Given the description of an element on the screen output the (x, y) to click on. 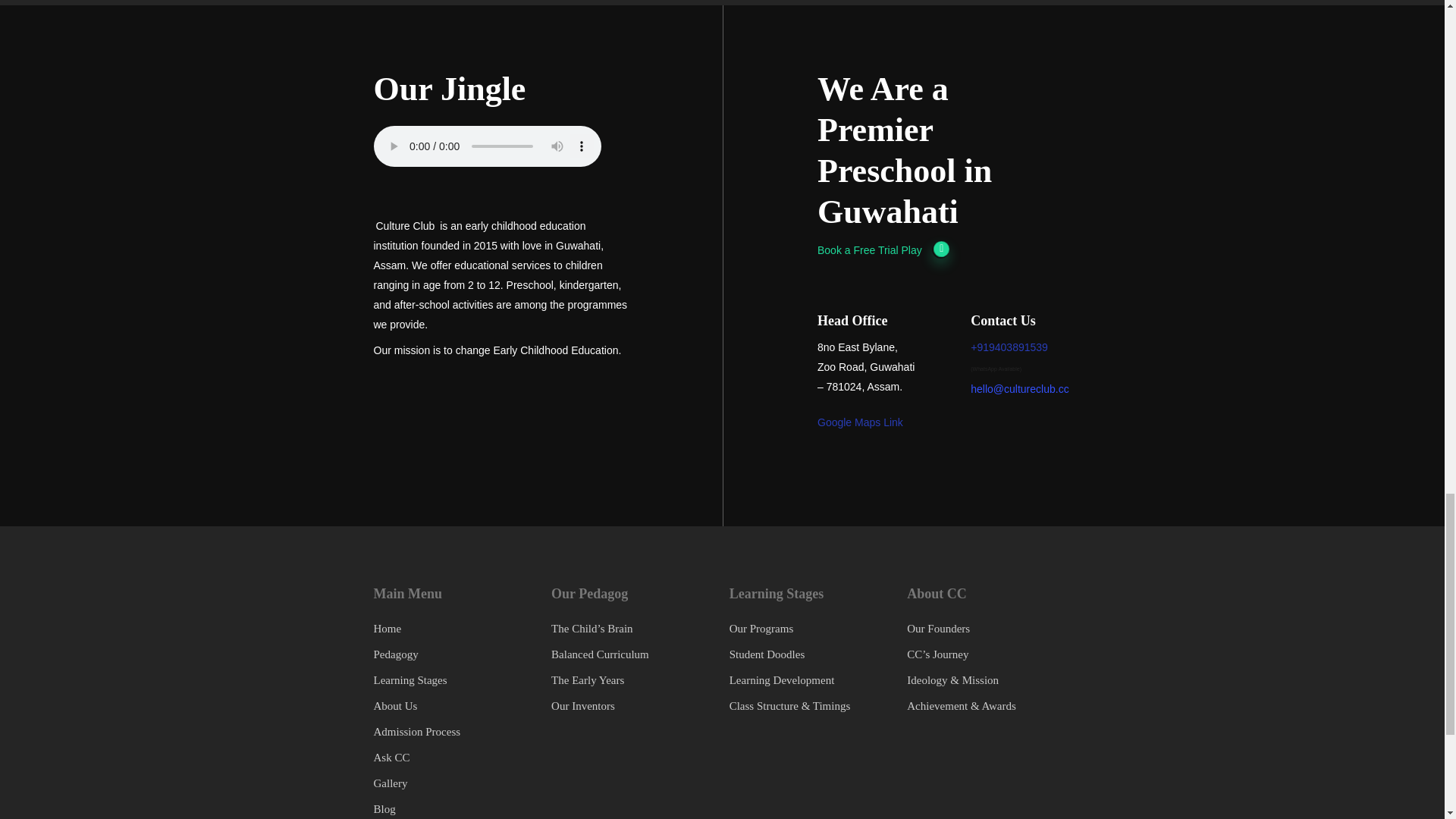
Our Programs (761, 628)
Pedagogy (394, 654)
Gallery (389, 783)
Learning Stages (409, 680)
Balanced Curriculum (600, 654)
Google Maps Link (859, 422)
About Us (394, 705)
The Early Years (587, 680)
Book a Free Trial Play (883, 250)
Student Doodles (767, 654)
Our Founders (938, 628)
Blog (383, 808)
Admission Process (416, 731)
Ask CC (390, 757)
Our Inventors (582, 705)
